Given the description of an element on the screen output the (x, y) to click on. 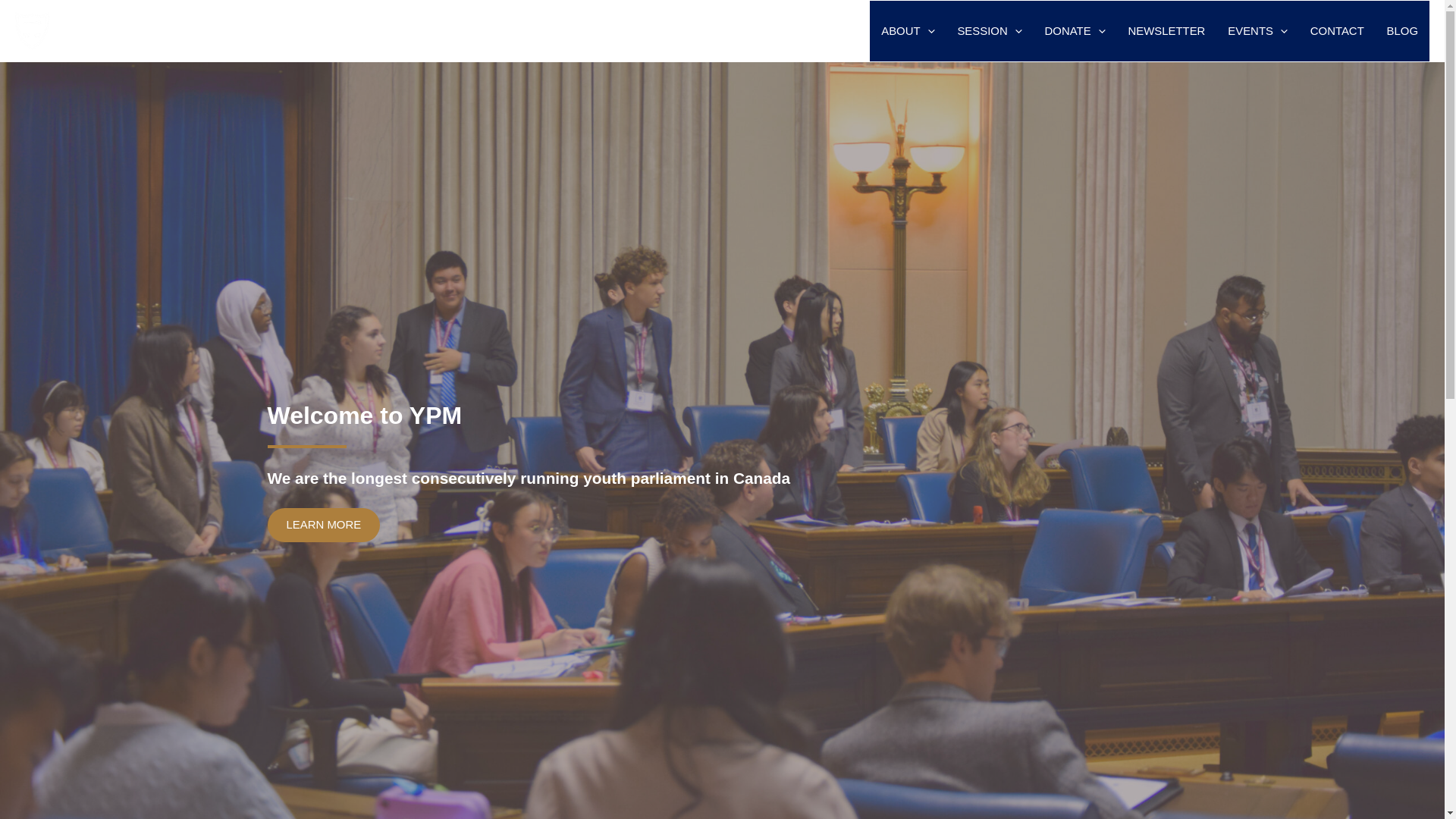
SESSION (988, 30)
ABOUT (906, 30)
EVENTS (1256, 30)
DONATE (1074, 30)
NEWSLETTER (1165, 30)
CONTACT (1336, 30)
BLOG (1402, 30)
